Given the description of an element on the screen output the (x, y) to click on. 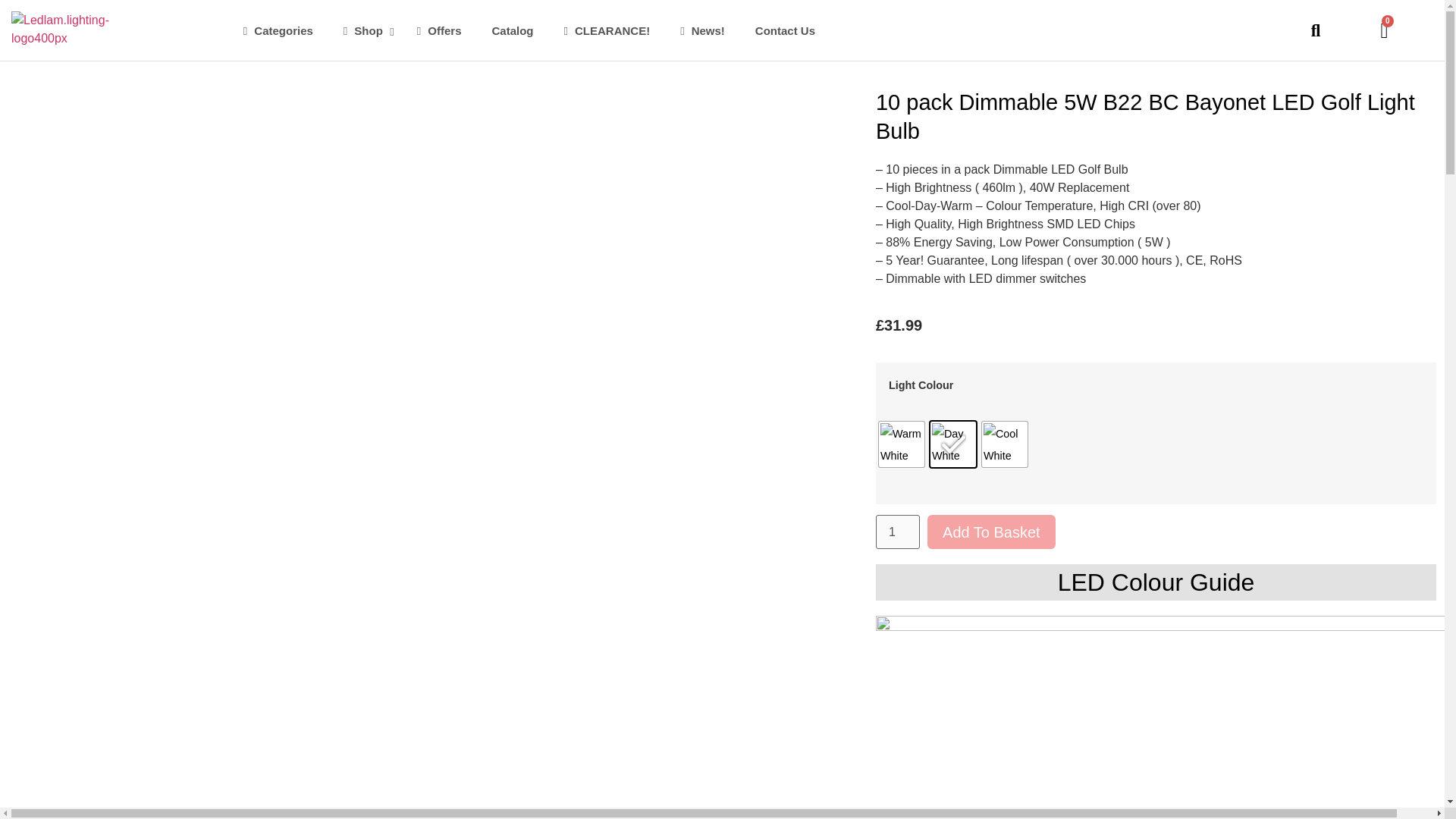
Day White (952, 443)
Cool White (1004, 443)
Categories (278, 30)
1 (898, 531)
Warm White (901, 443)
